Given the description of an element on the screen output the (x, y) to click on. 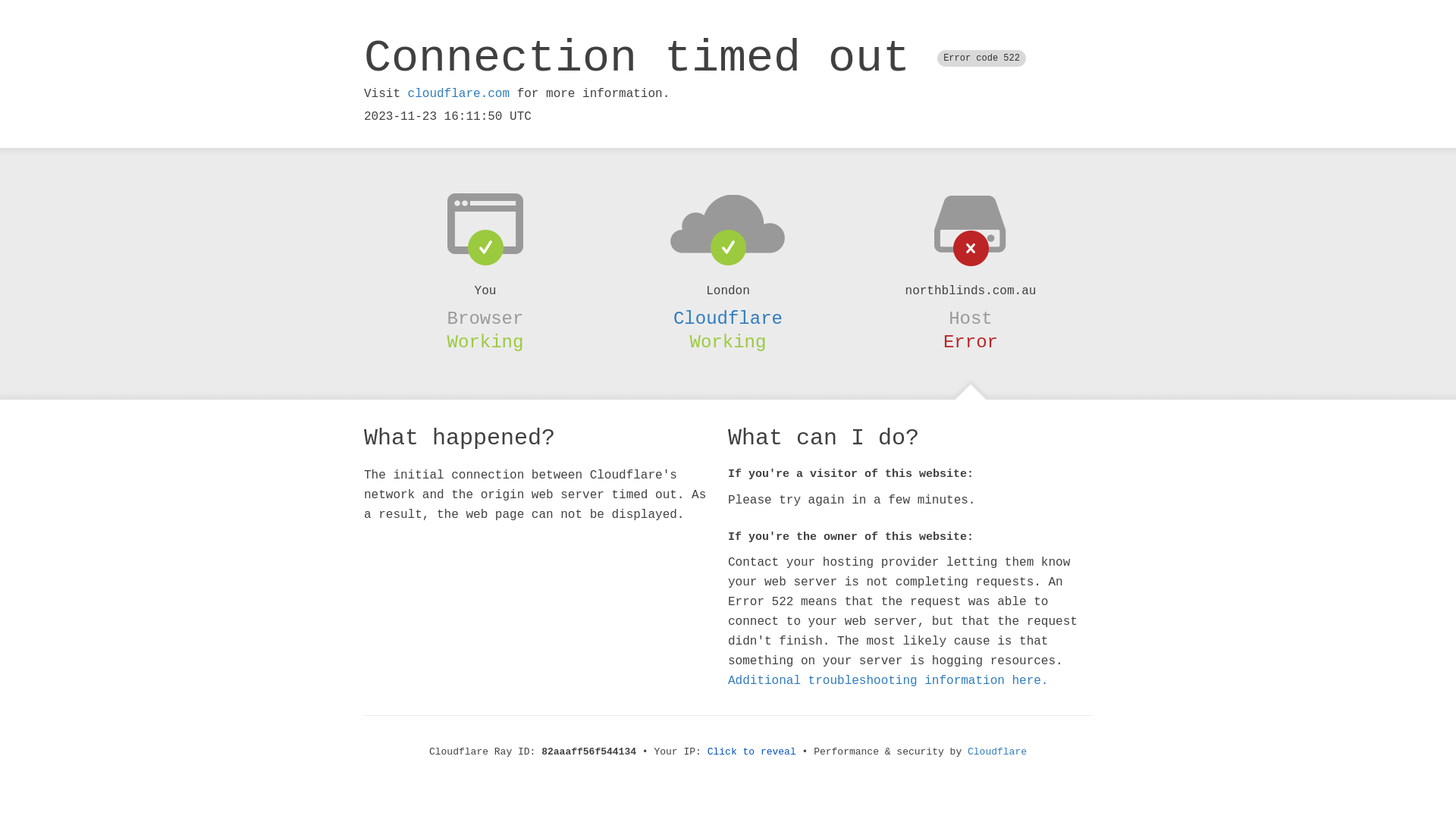
Cloudflare Element type: text (727, 318)
Cloudflare Element type: text (996, 751)
Click to reveal Element type: text (751, 751)
Additional troubleshooting information here. Element type: text (888, 680)
cloudflare.com Element type: text (458, 93)
